Given the description of an element on the screen output the (x, y) to click on. 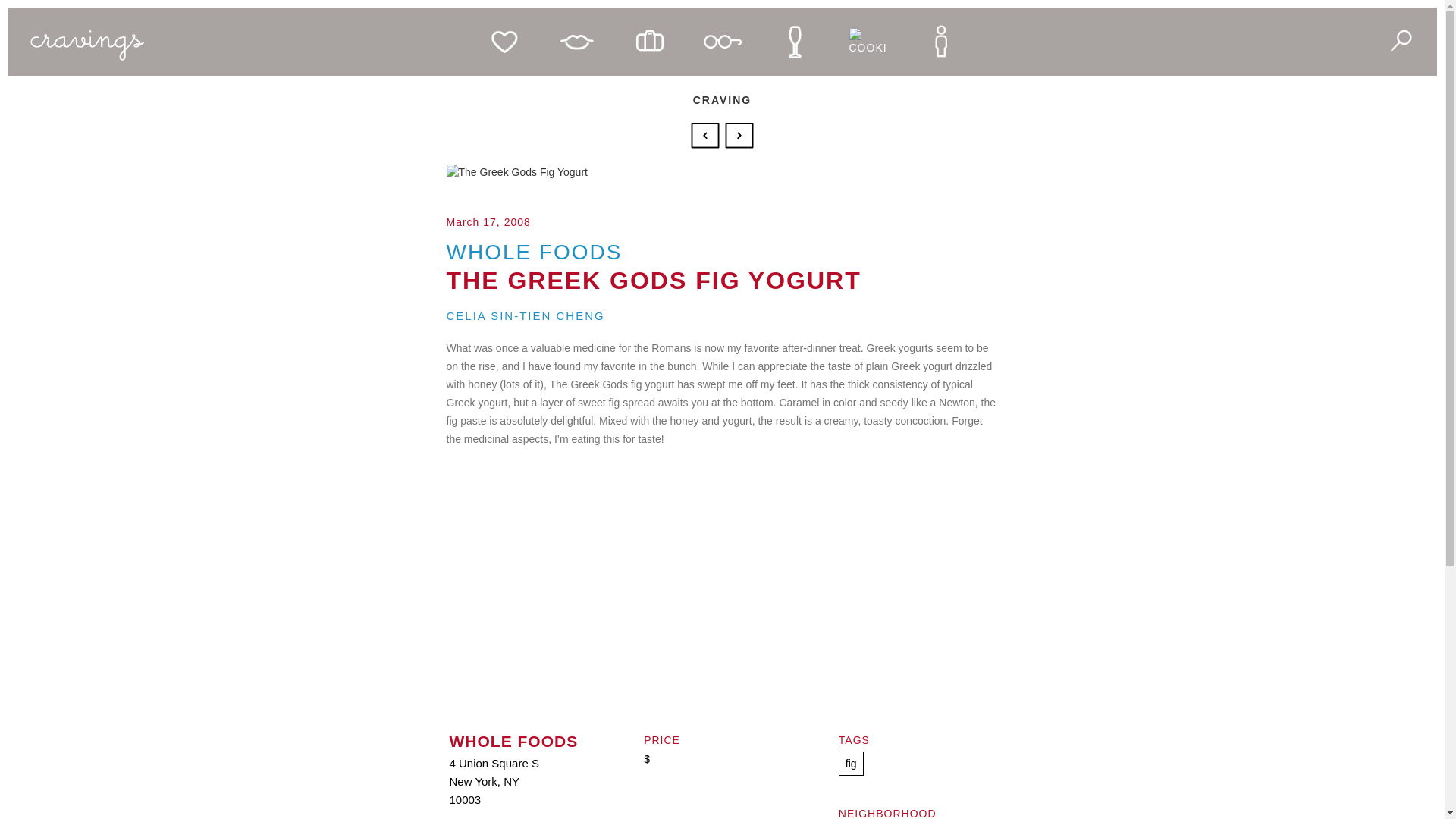
CELIA SIN-TIEN CHENG (652, 315)
Next: Chocolate Covered Pretzel Sticks (738, 133)
fig (850, 763)
